Given the description of an element on the screen output the (x, y) to click on. 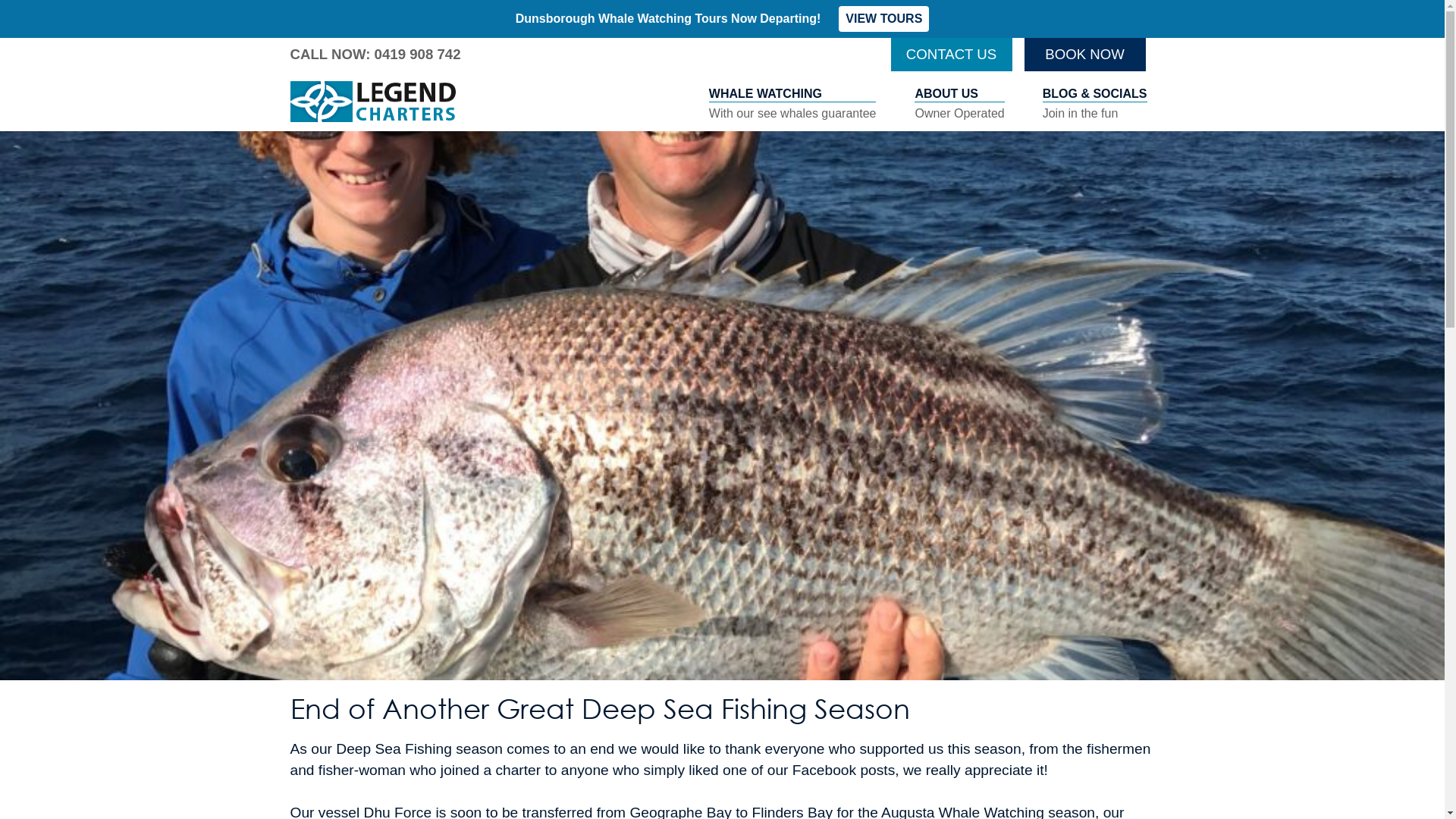
VIEW TOURS Element type: text (883, 18)
0419 908 742 Element type: text (417, 54)
ABOUT US
Owner Operated Element type: text (958, 103)
CONTACT US Element type: text (950, 54)
BOOK NOW Element type: text (1084, 54)
BLOG & SOCIALS
Join in the fun Element type: text (1094, 103)
WHALE WATCHING
With our see whales guarantee Element type: text (792, 103)
